Given the description of an element on the screen output the (x, y) to click on. 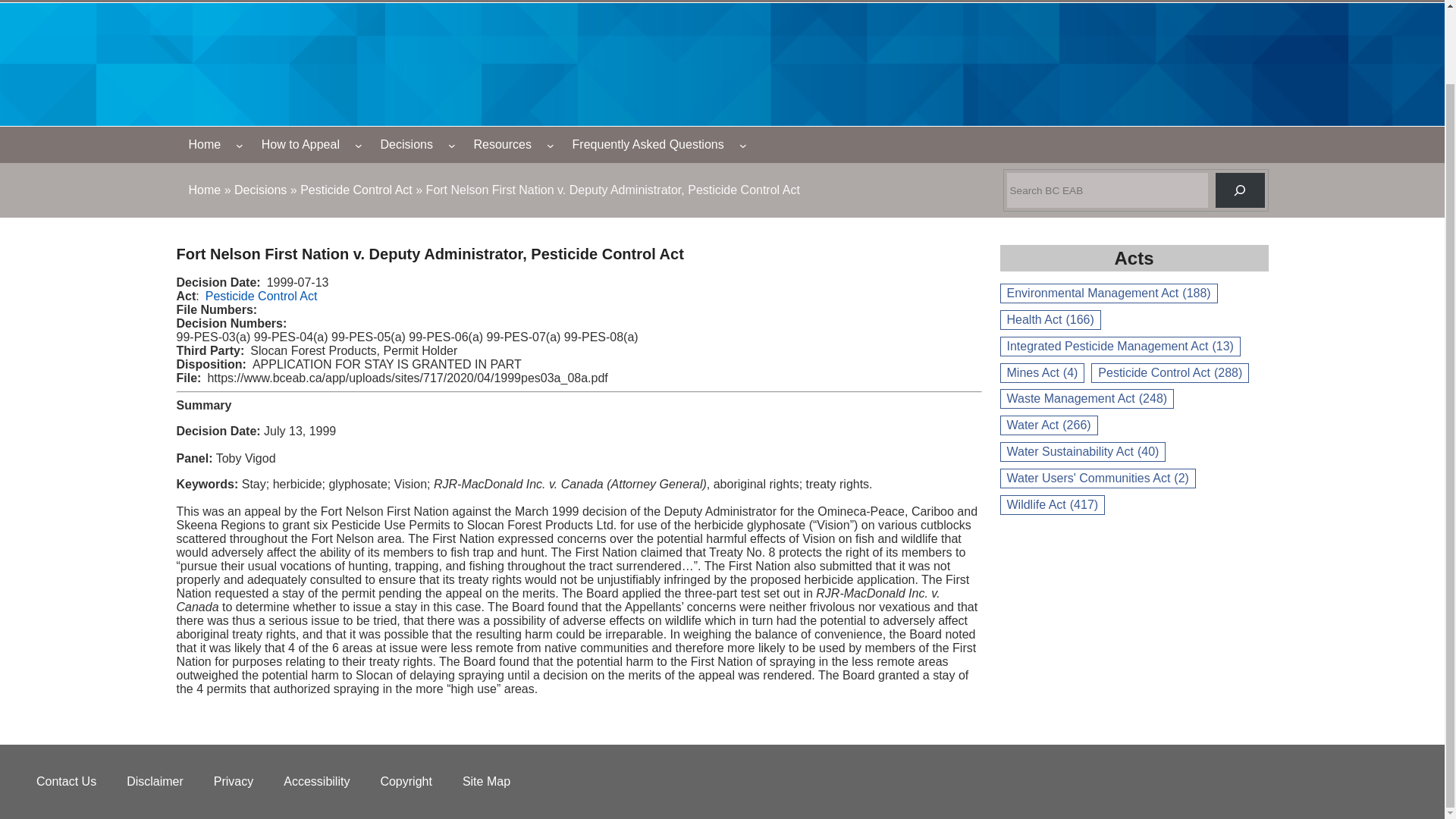
Resources (502, 144)
Pesticide Control Act (261, 295)
Pesticide Control Act (355, 189)
Decisions (260, 189)
Decisions (260, 189)
Pesticide Control Act (355, 189)
Frequently Asked Questions (648, 144)
Home (204, 189)
Decisions (406, 144)
Home (204, 144)
How to Appeal (300, 144)
Home (204, 189)
